Given the description of an element on the screen output the (x, y) to click on. 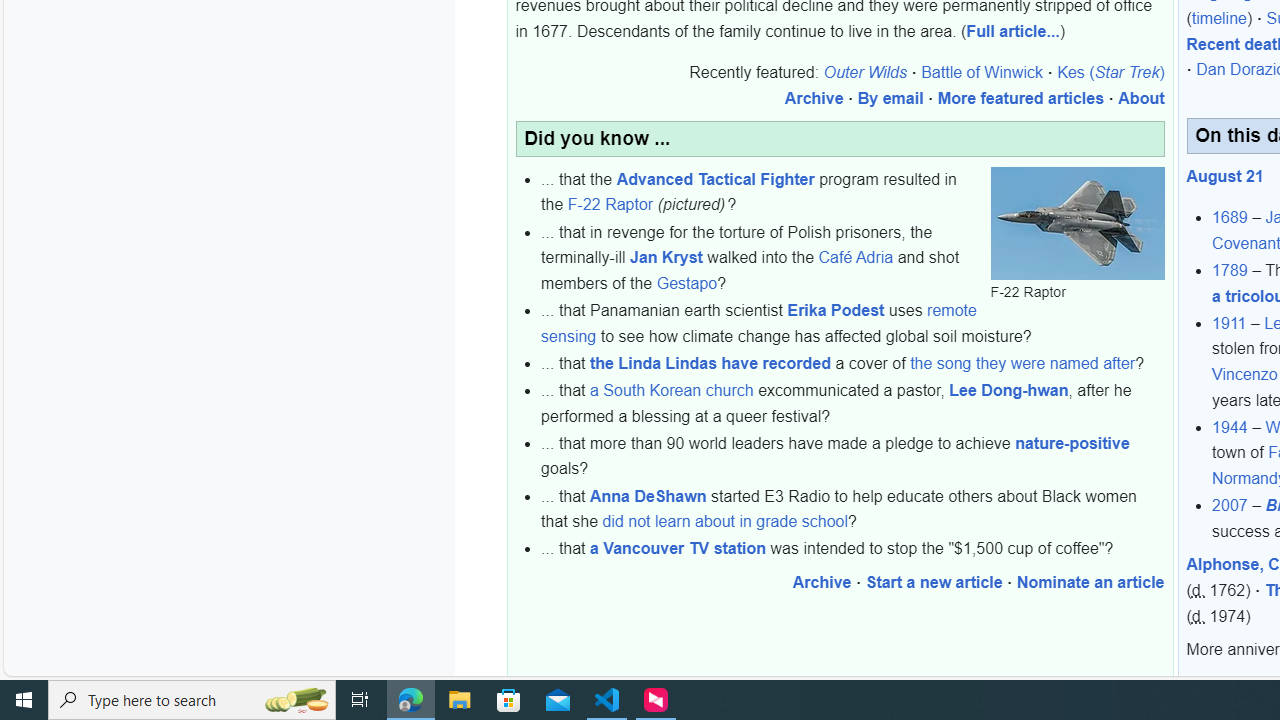
Nominate an article (1090, 582)
More featured articles (1020, 99)
F-22 Raptor (1076, 223)
did not learn about in grade school (724, 521)
a Vancouver TV station (678, 549)
Erika Podest (835, 310)
Start a new article (934, 582)
1911 (1229, 322)
Gestapo (686, 283)
(timeline) (1219, 19)
